Given the description of an element on the screen output the (x, y) to click on. 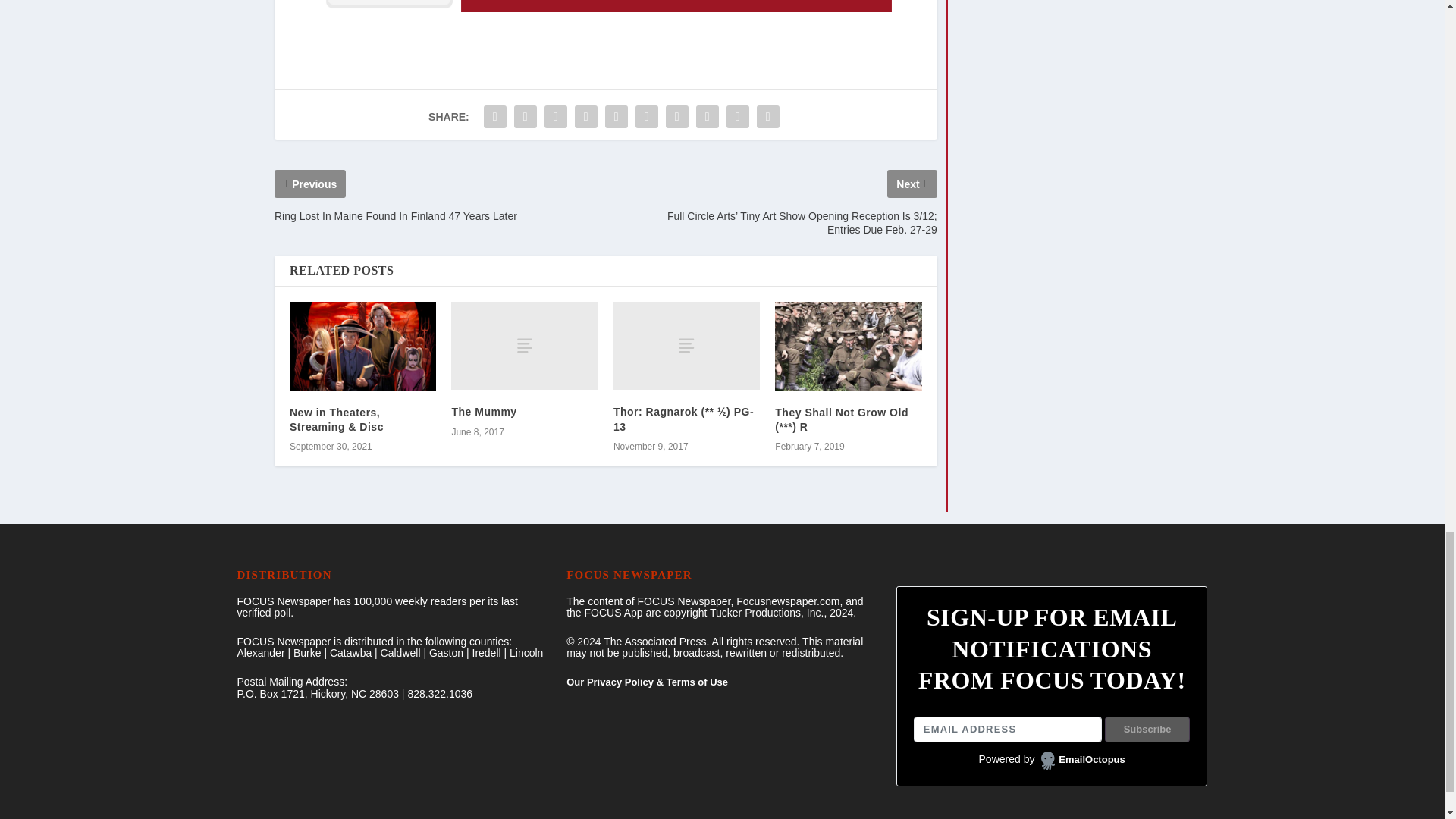
Subscribe (1148, 729)
The Mummy (523, 345)
